Given the description of an element on the screen output the (x, y) to click on. 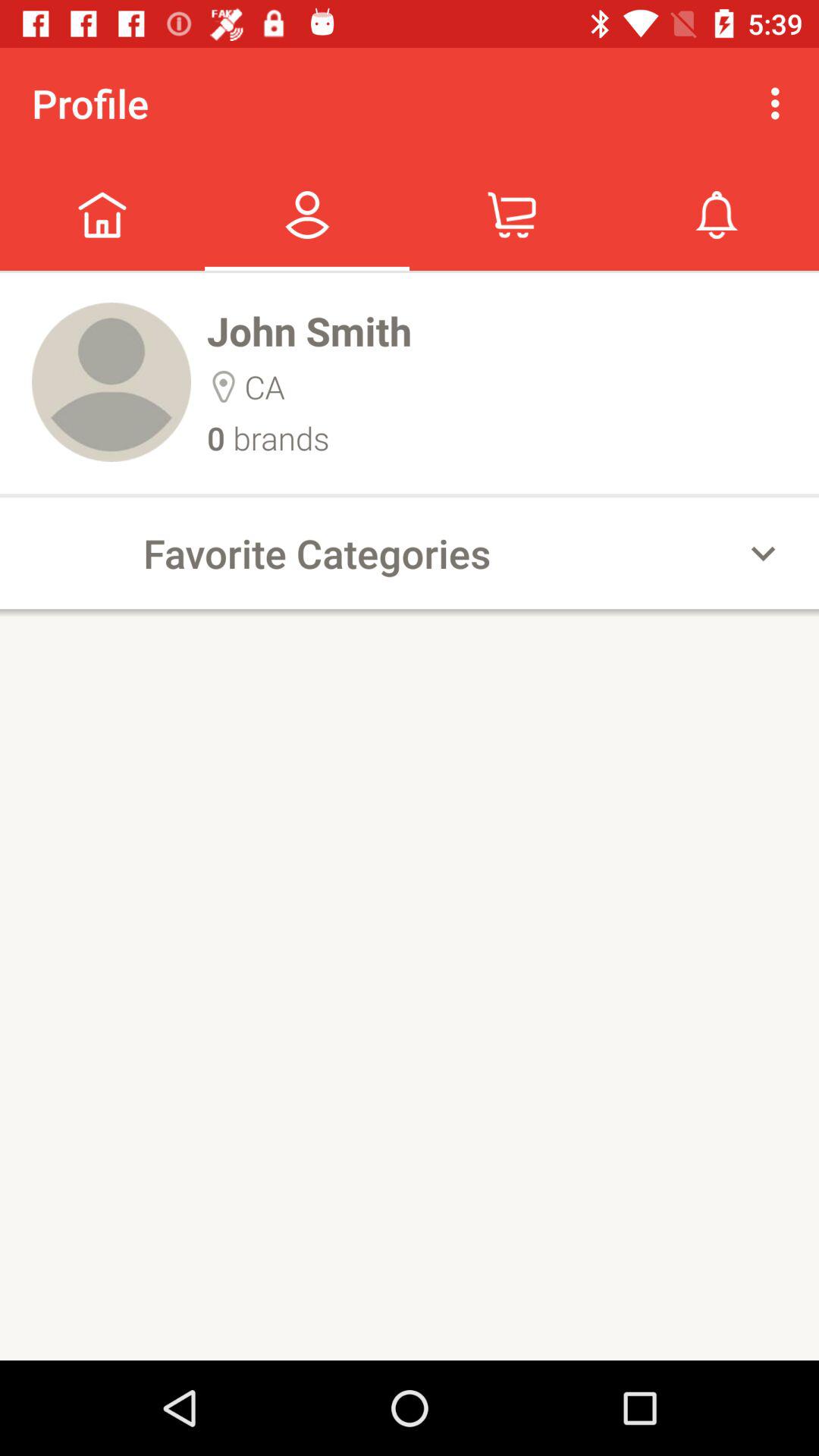
tap icon next to profile (779, 103)
